Given the description of an element on the screen output the (x, y) to click on. 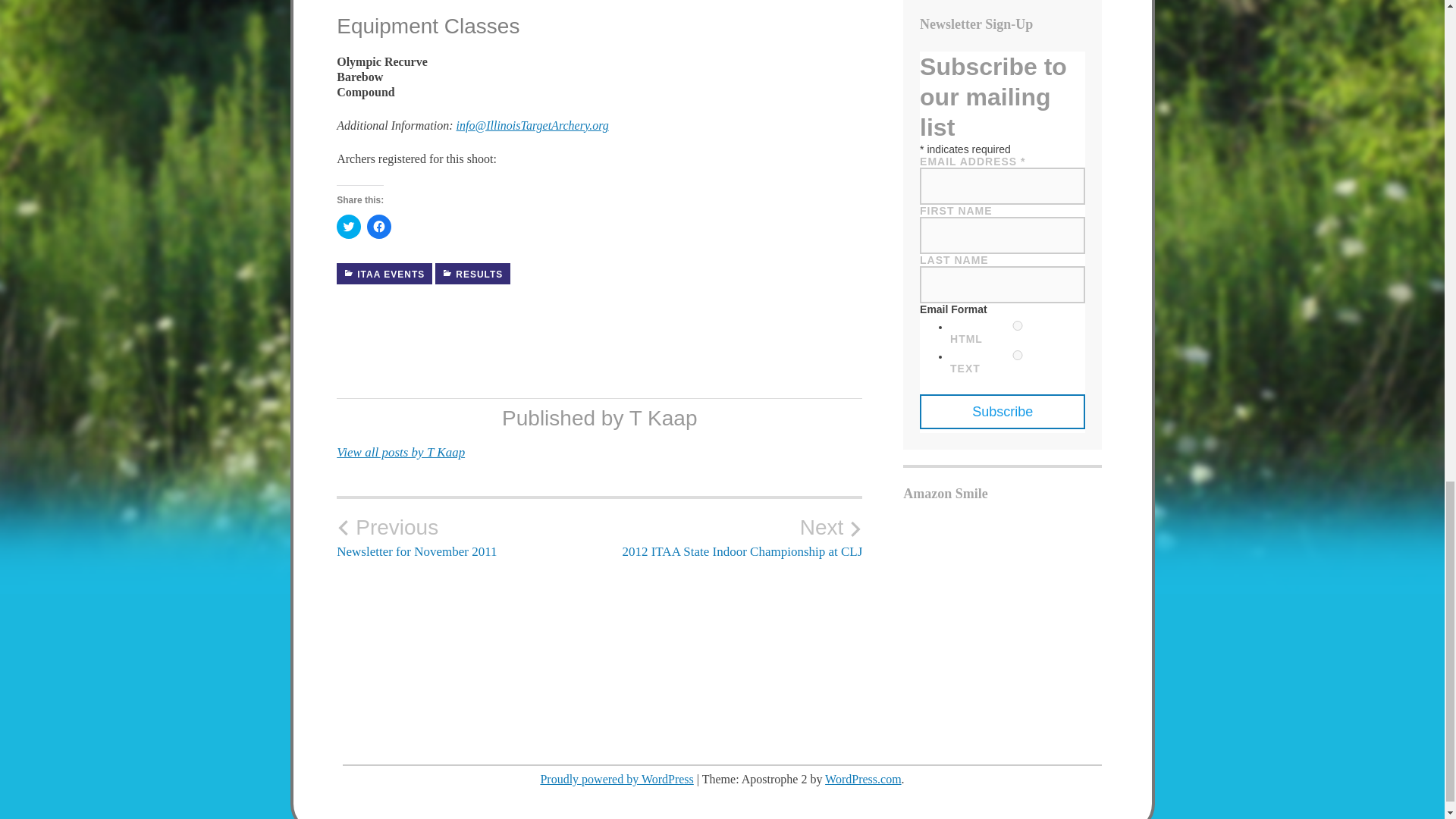
RESULTS (473, 273)
text (1017, 355)
Click to share on Facebook (378, 226)
View all posts by T Kaap (400, 452)
Subscribe (1002, 411)
Click to share on Twitter (348, 226)
ITAA EVENTS (384, 273)
html (1017, 325)
